Given the description of an element on the screen output the (x, y) to click on. 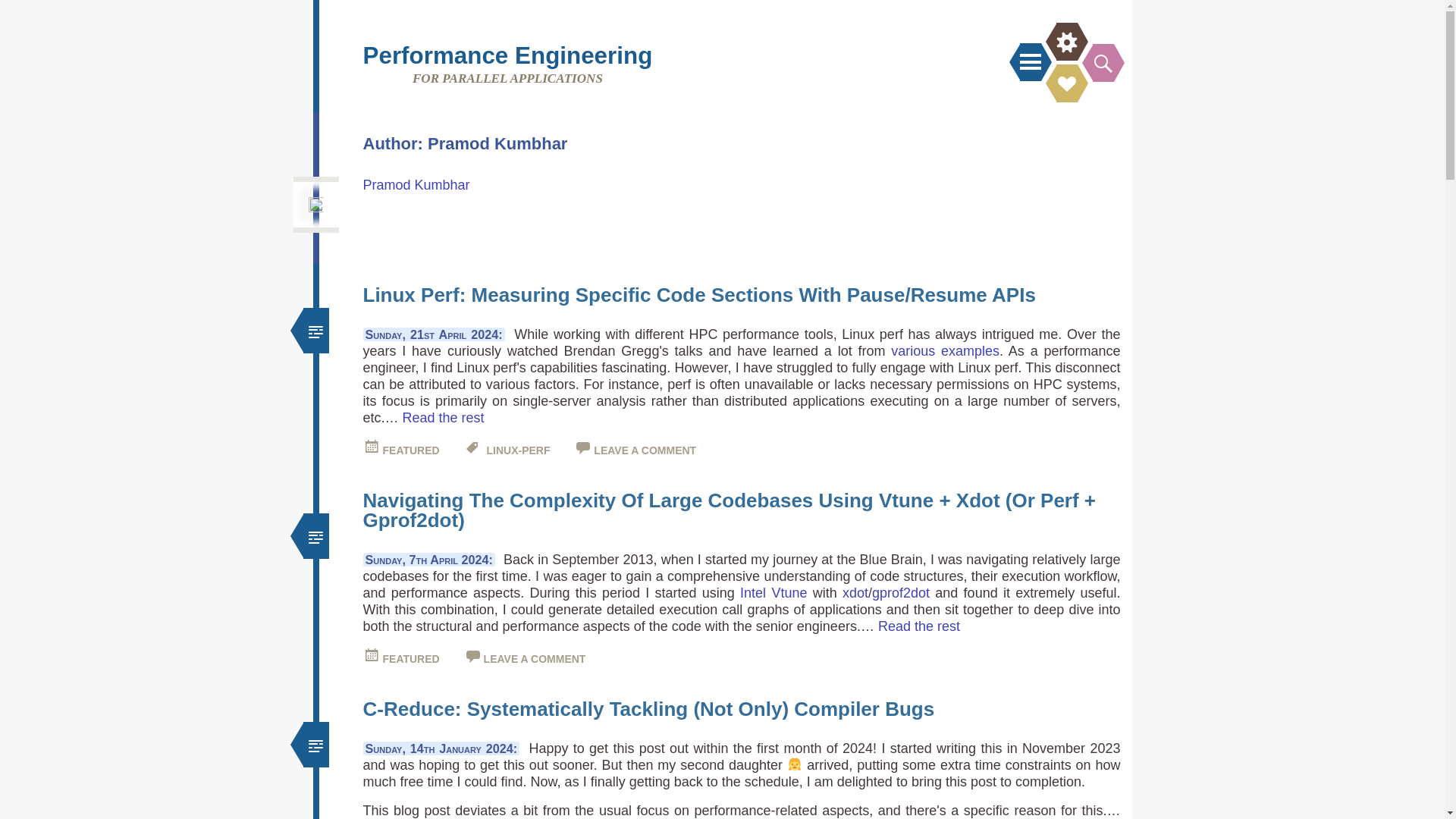
Performance Engineering (507, 55)
4:56 pm (410, 450)
Pramod Kumbhar (415, 184)
12:23 pm (410, 658)
